Given the description of an element on the screen output the (x, y) to click on. 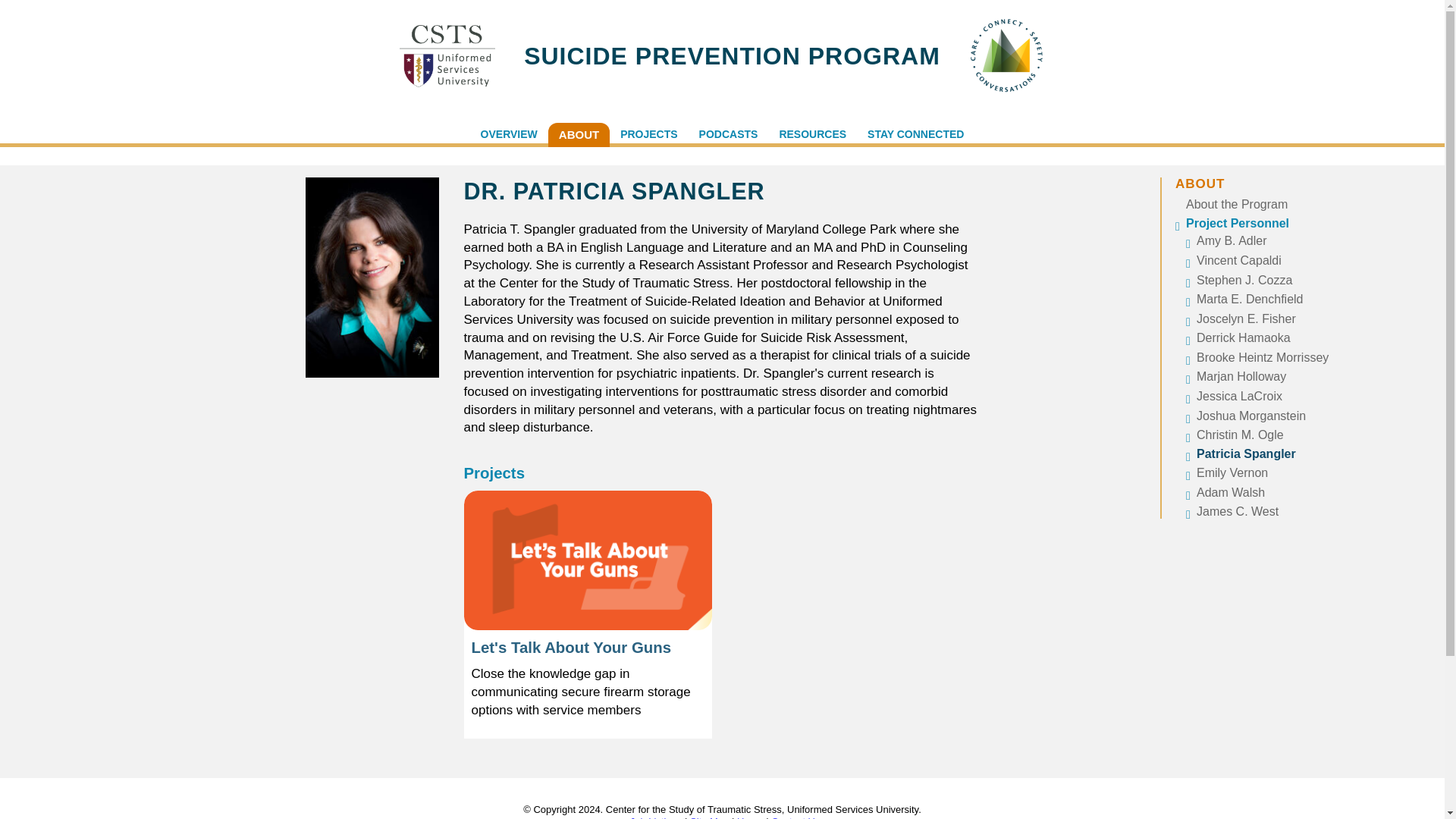
OVERVIEW (509, 134)
PROJECTS (648, 134)
ABOUT (579, 134)
